Given the description of an element on the screen output the (x, y) to click on. 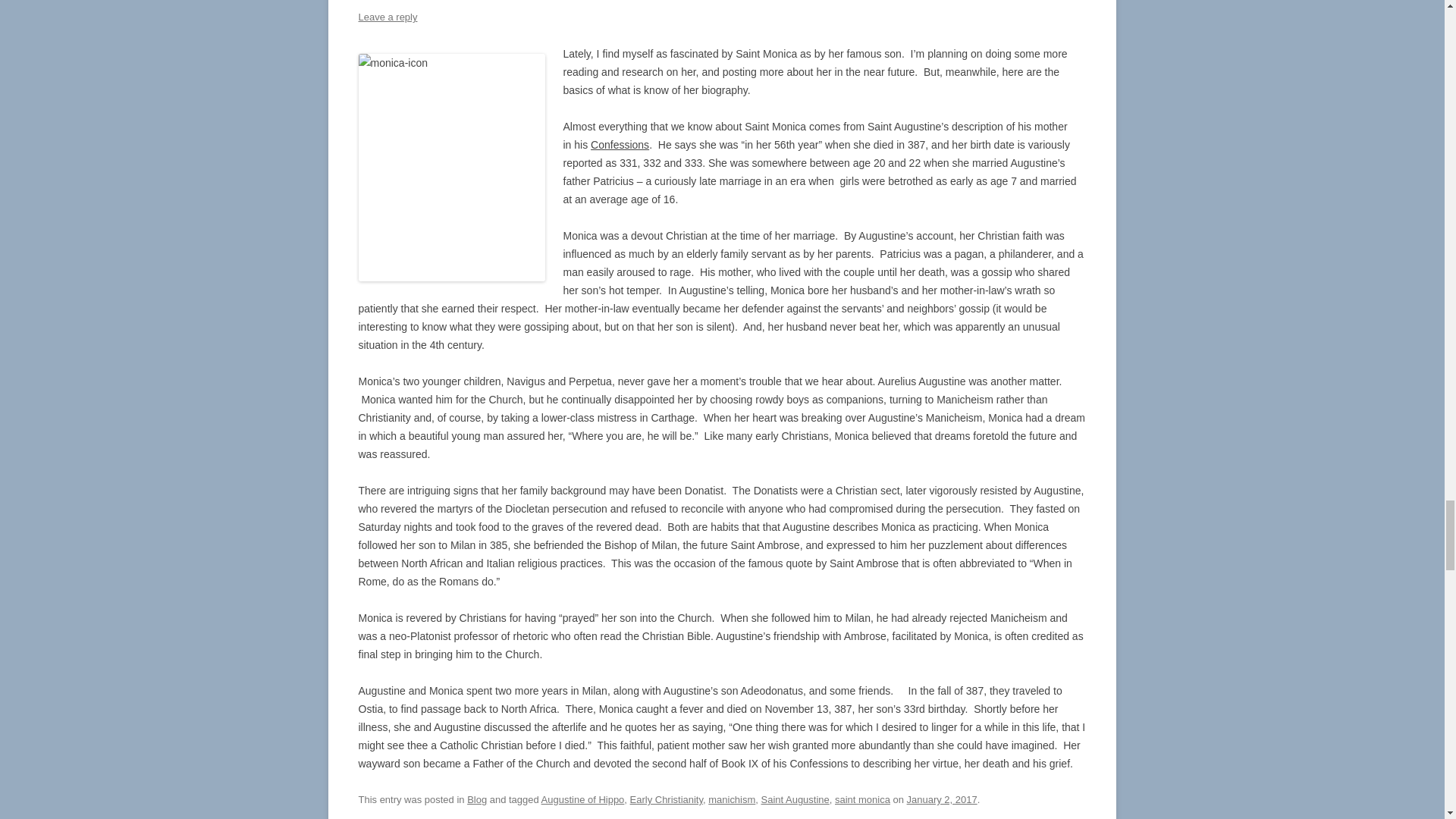
3:49 pm (941, 799)
